Given the description of an element on the screen output the (x, y) to click on. 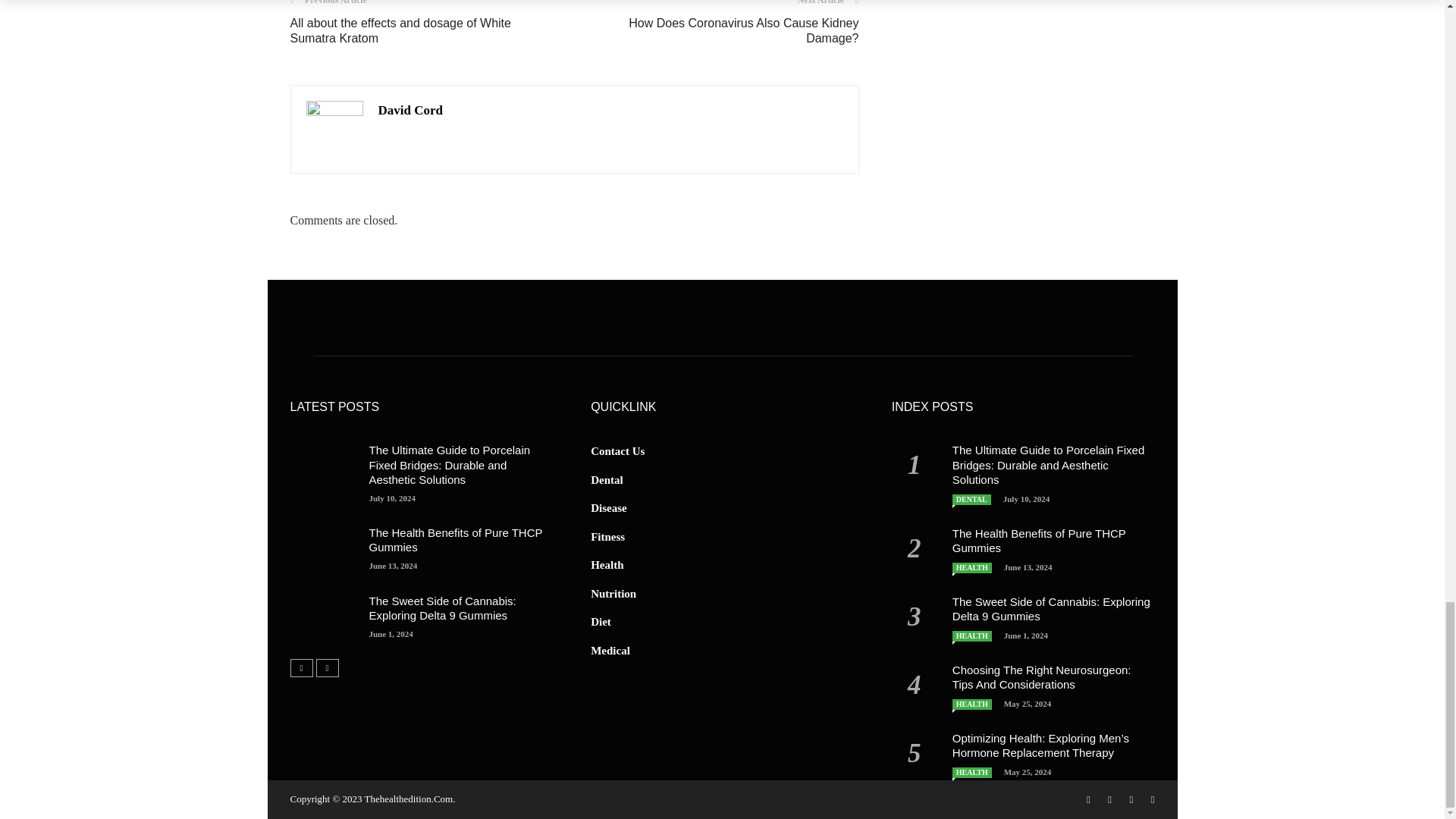
Previous (301, 668)
Next (326, 668)
